Given the description of an element on the screen output the (x, y) to click on. 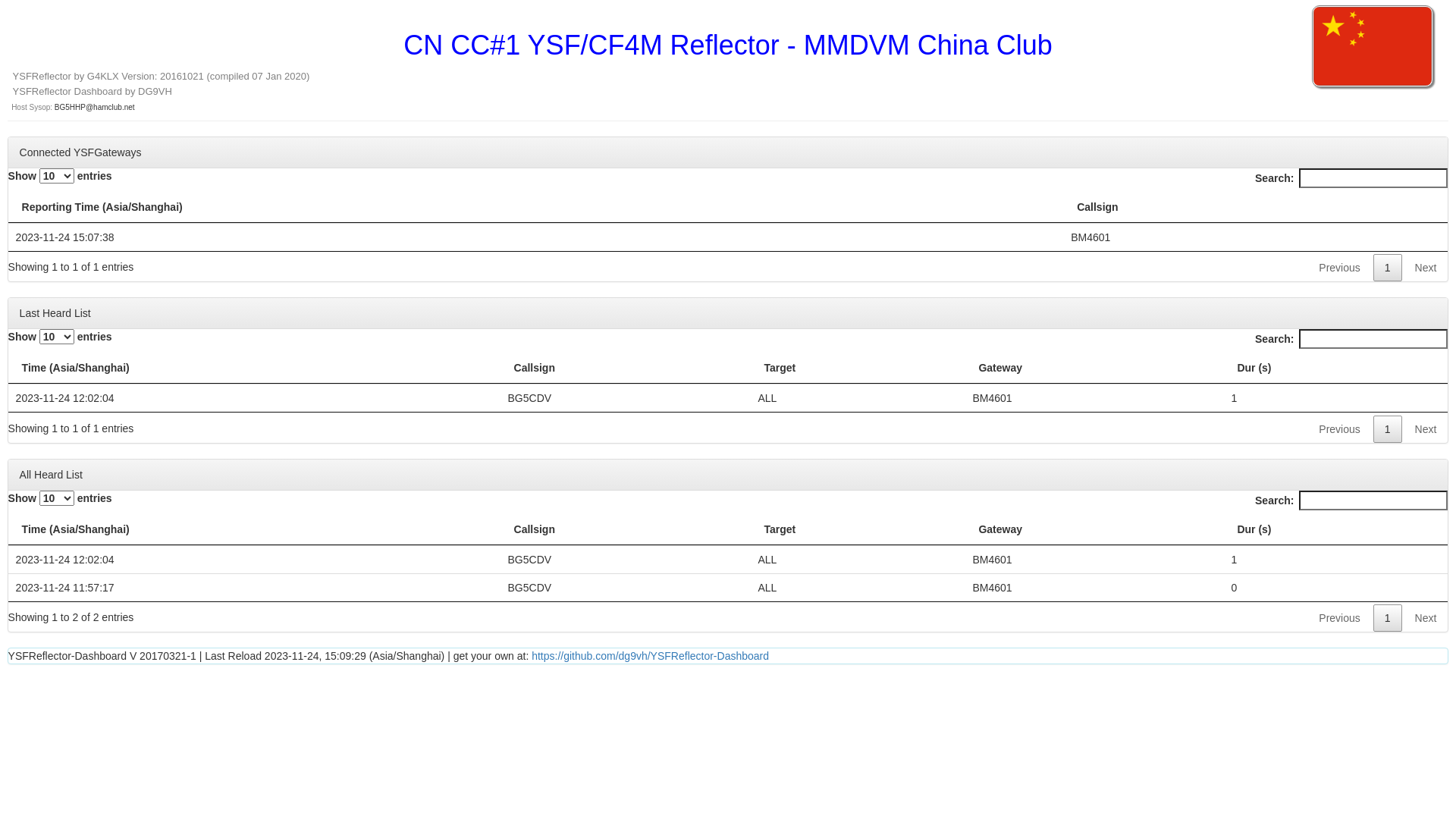
Previous Element type: text (1339, 267)
1 Element type: text (1387, 428)
1 Element type: text (1387, 617)
1 Element type: text (1387, 267)
Next Element type: text (1425, 267)
Previous Element type: text (1339, 617)
Next Element type: text (1425, 617)
Next Element type: text (1425, 428)
Previous Element type: text (1339, 428)
https://github.com/dg9vh/YSFReflector-Dashboard Element type: text (649, 655)
